Given the description of an element on the screen output the (x, y) to click on. 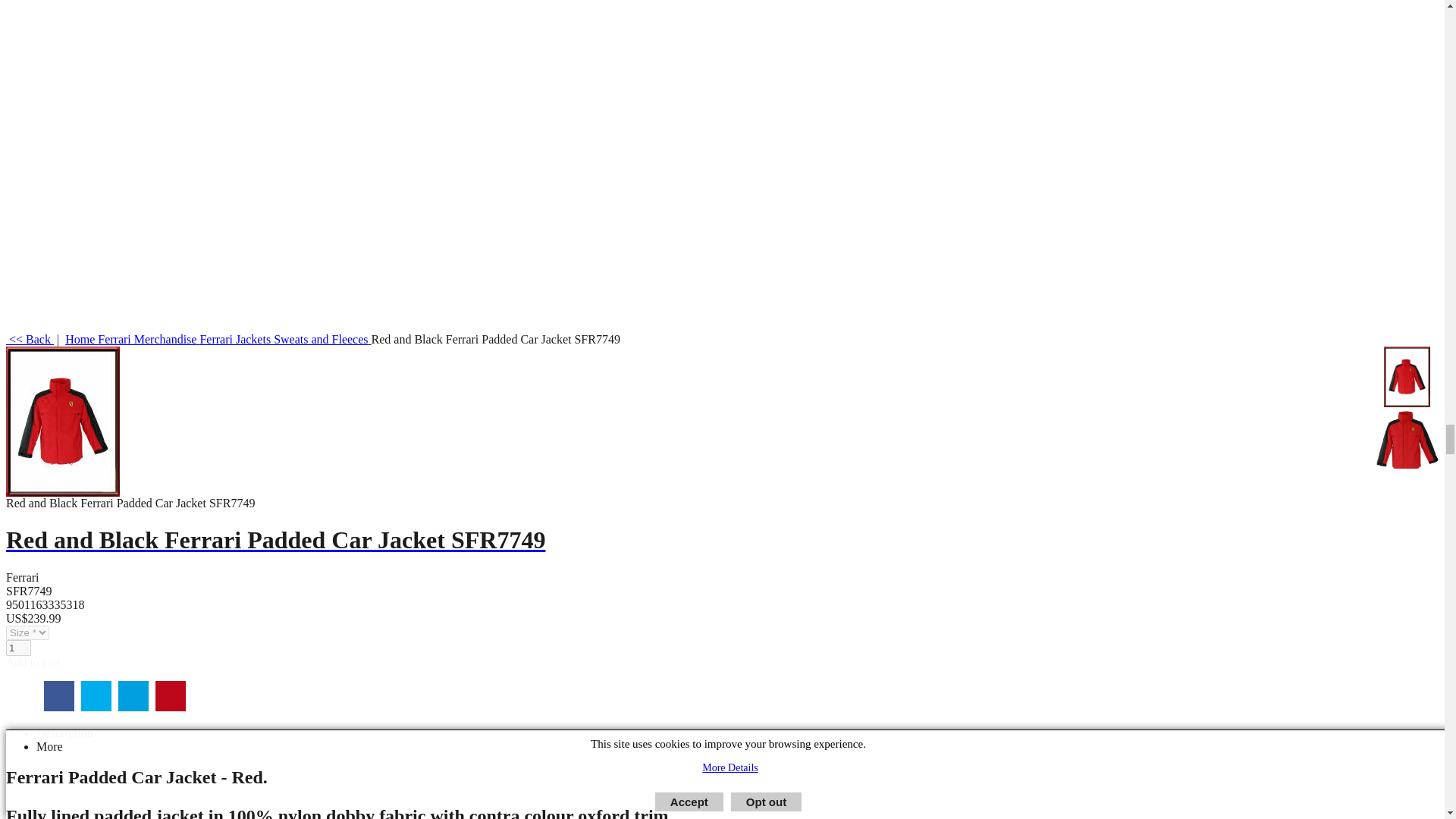
1 (17, 647)
